Given the description of an element on the screen output the (x, y) to click on. 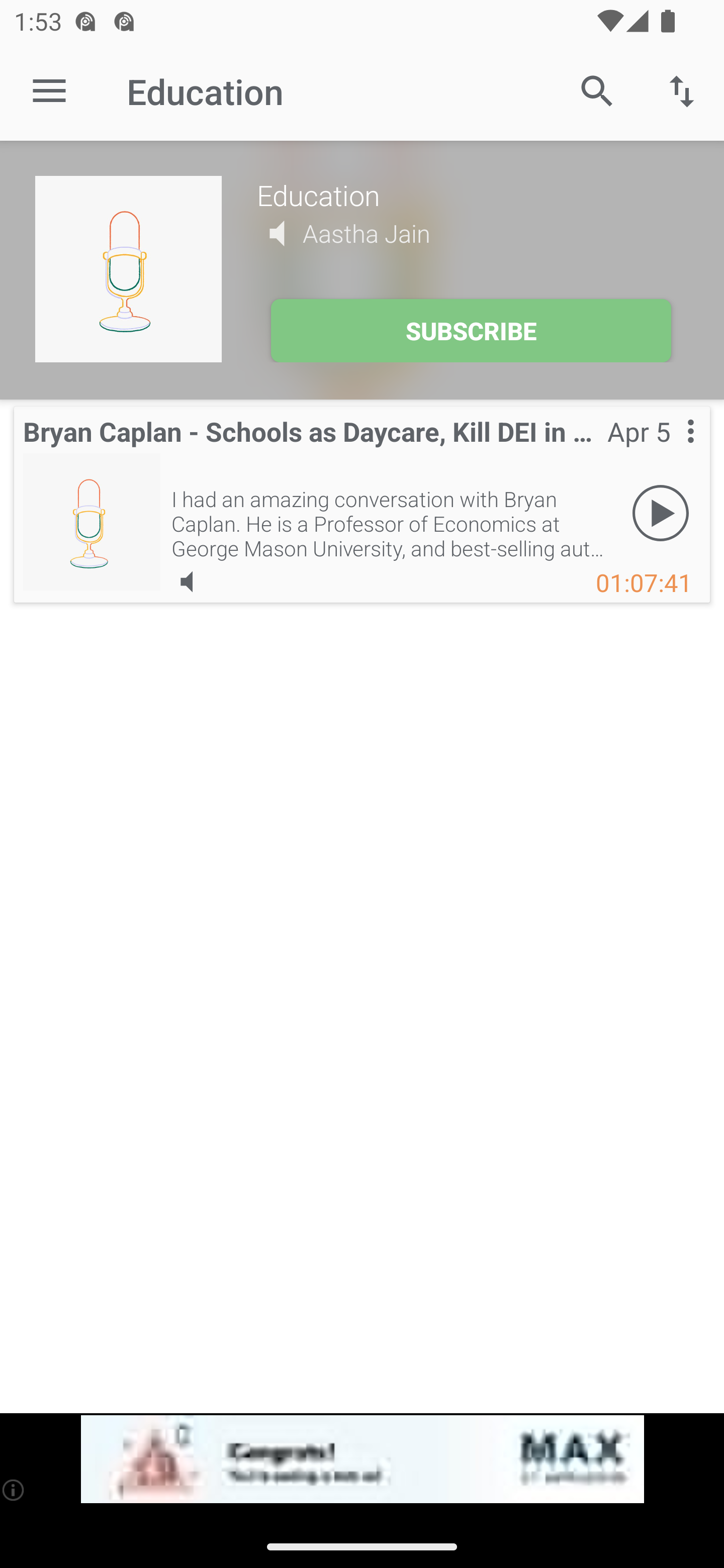
Open navigation sidebar (49, 91)
Search (597, 90)
Sort (681, 90)
SUBSCRIBE (470, 330)
Contextual menu (668, 451)
Play (660, 513)
app-monetization (362, 1459)
(i) (14, 1489)
